Given the description of an element on the screen output the (x, y) to click on. 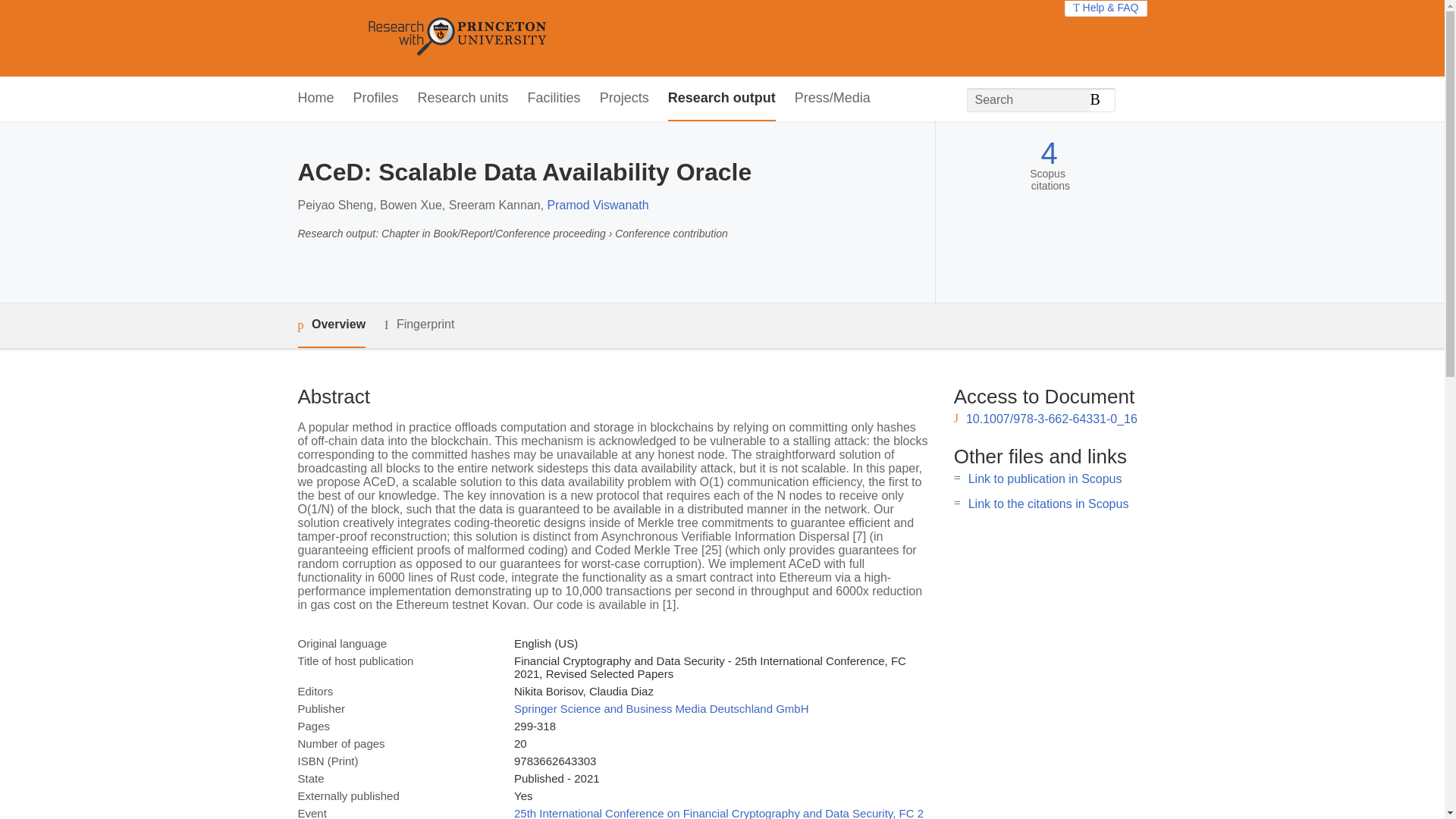
Link to publication in Scopus (1045, 478)
Profiles (375, 98)
Springer Science and Business Media Deutschland GmbH (661, 707)
Princeton University Home (567, 38)
Research units (462, 98)
Overview (331, 325)
Projects (624, 98)
Pramod Viswanath (598, 205)
Link to the citations in Scopus (1048, 503)
Research output (722, 98)
Fingerprint (419, 324)
Facilities (553, 98)
